Given the description of an element on the screen output the (x, y) to click on. 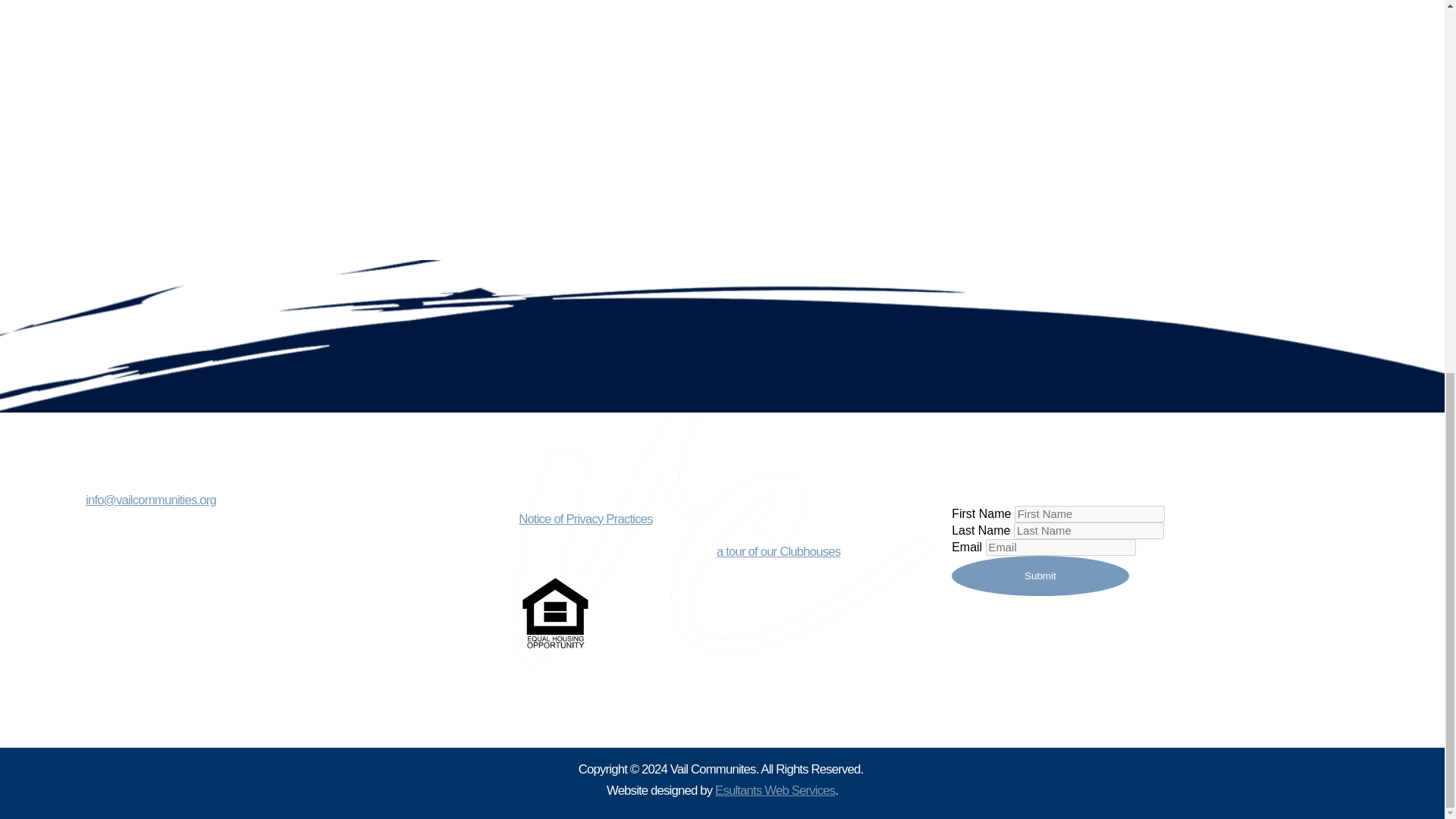
Submit (1040, 576)
